Given the description of an element on the screen output the (x, y) to click on. 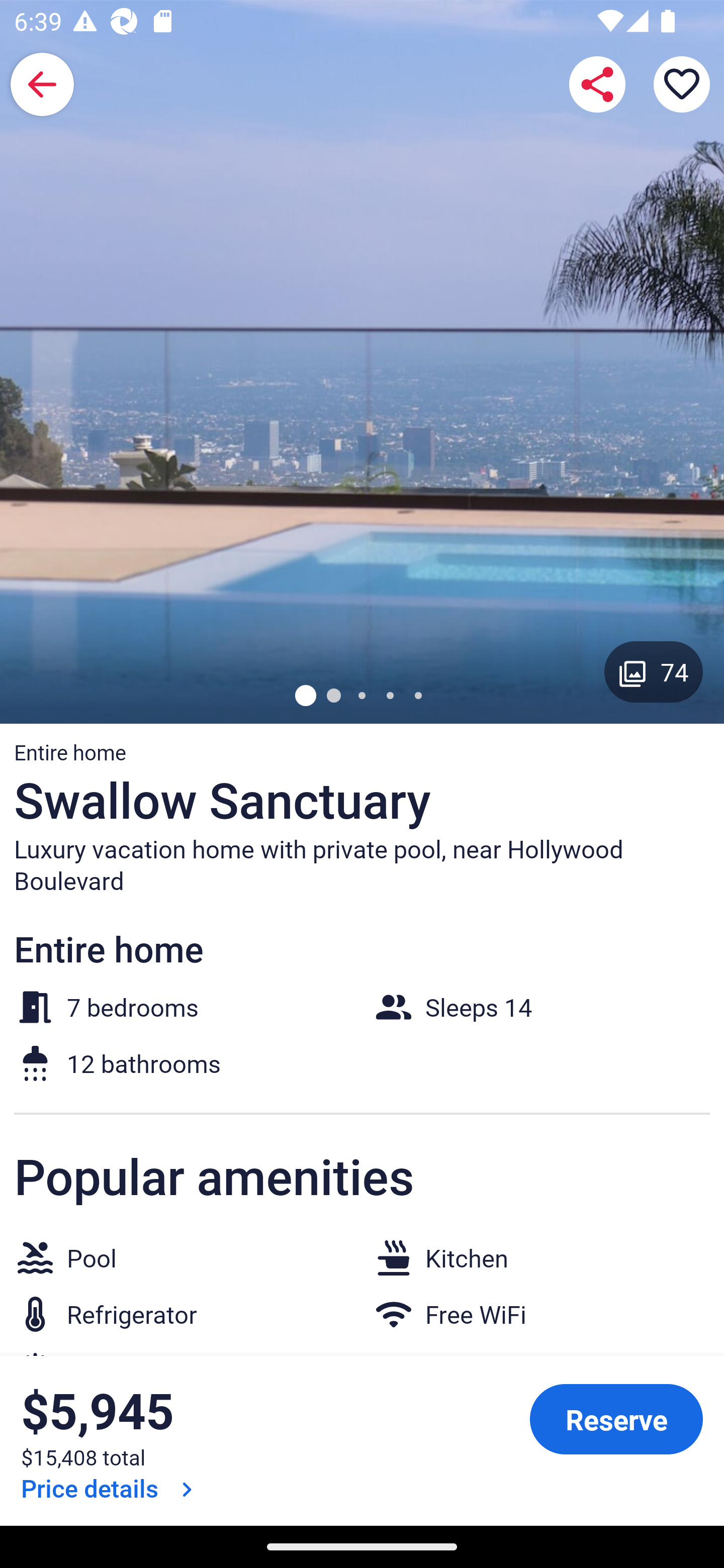
Back (42, 84)
Save property to a trip (681, 84)
Share Swallow Sanctuary (597, 84)
Gallery button with 74 images (653, 671)
See all property amenities (178, 1428)
